Given the description of an element on the screen output the (x, y) to click on. 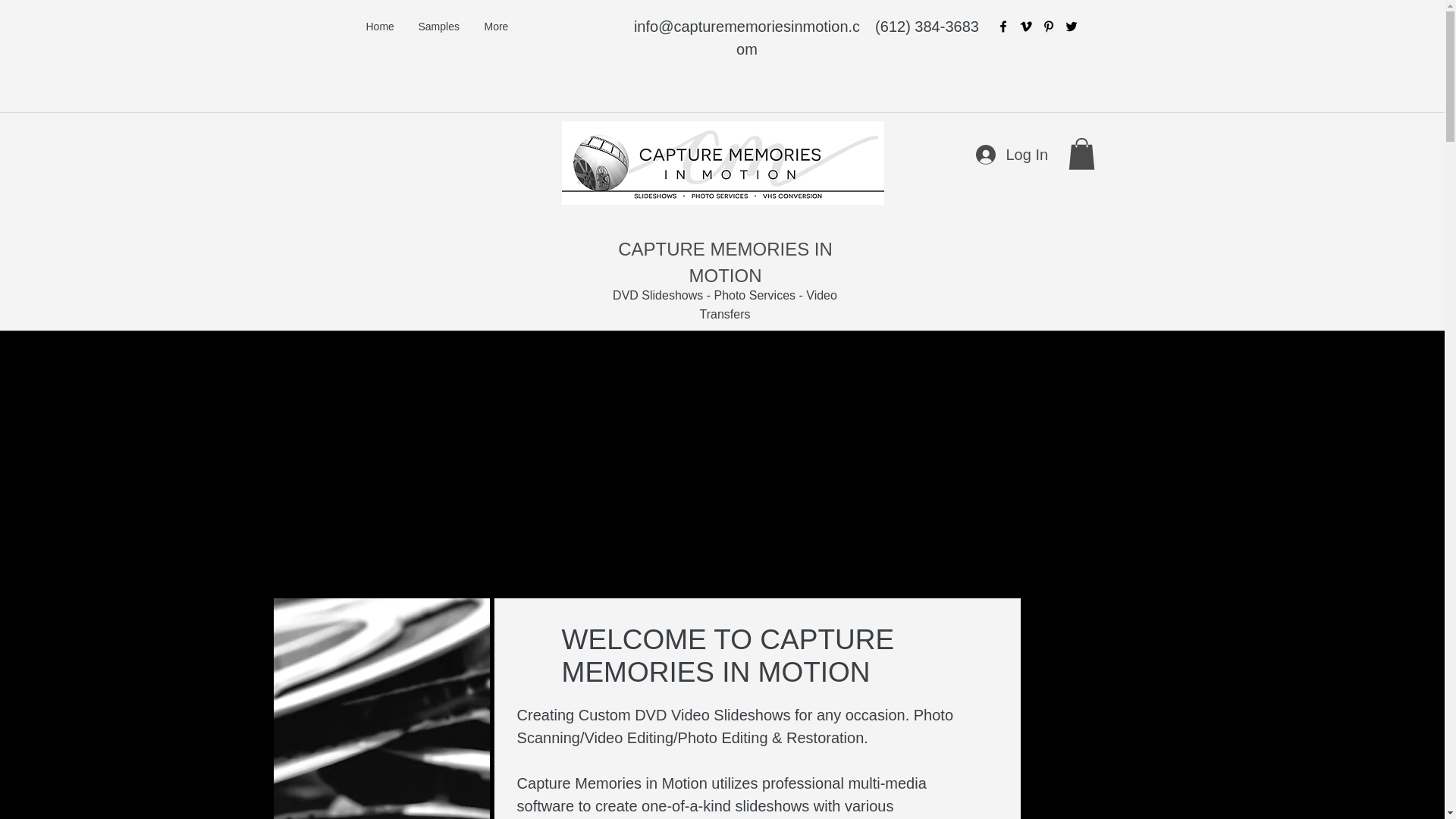
Log In (1009, 153)
Home (381, 26)
Samples (438, 26)
